Given the description of an element on the screen output the (x, y) to click on. 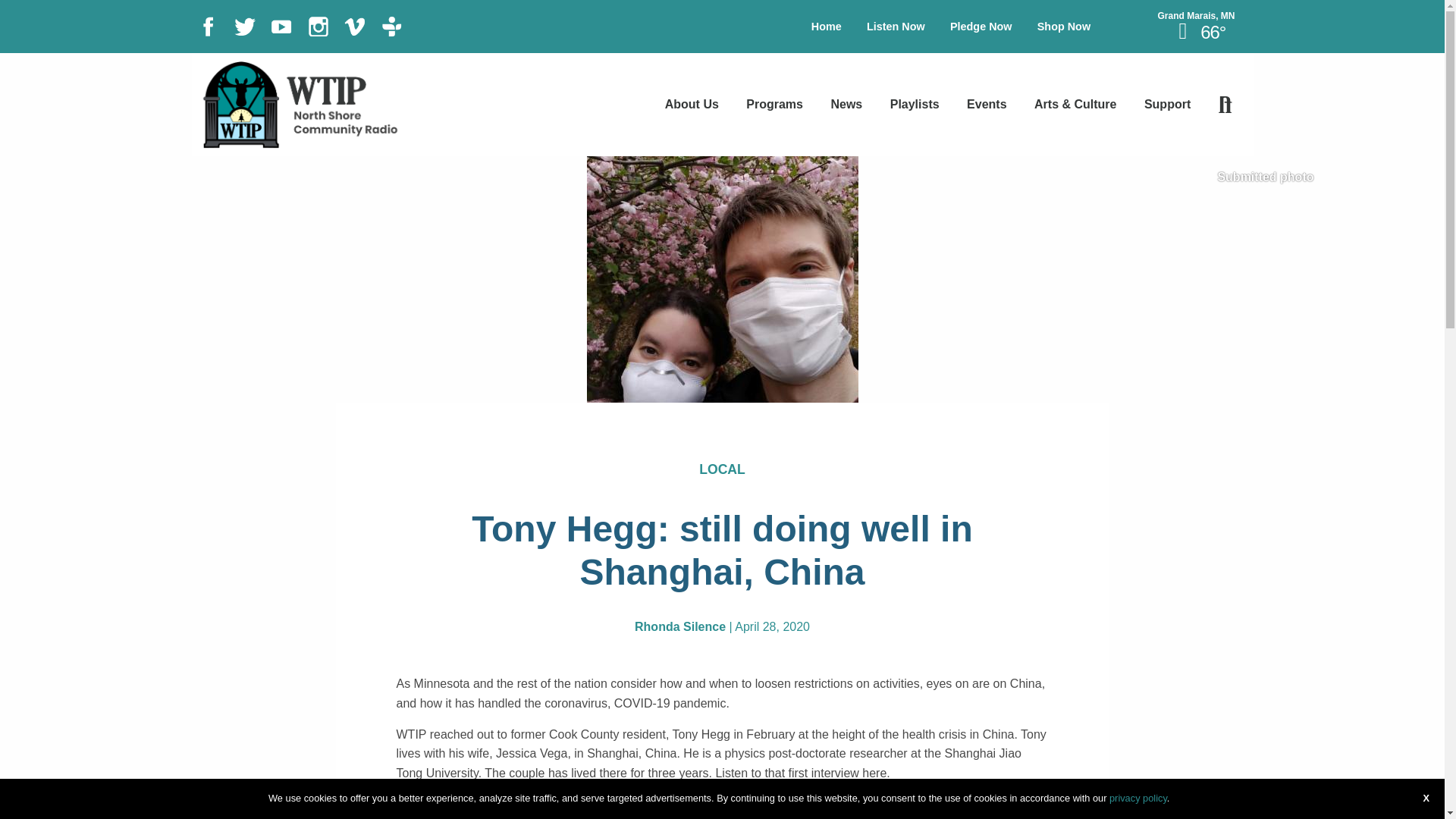
Vimeo (354, 24)
Grand Marais MN Weather (1195, 15)
Instagram (317, 24)
TuneIn (392, 24)
WTIP (298, 103)
Facebook (207, 24)
YouTube (281, 24)
Rhonda Silence (679, 626)
Twitter (245, 24)
